Given the description of an element on the screen output the (x, y) to click on. 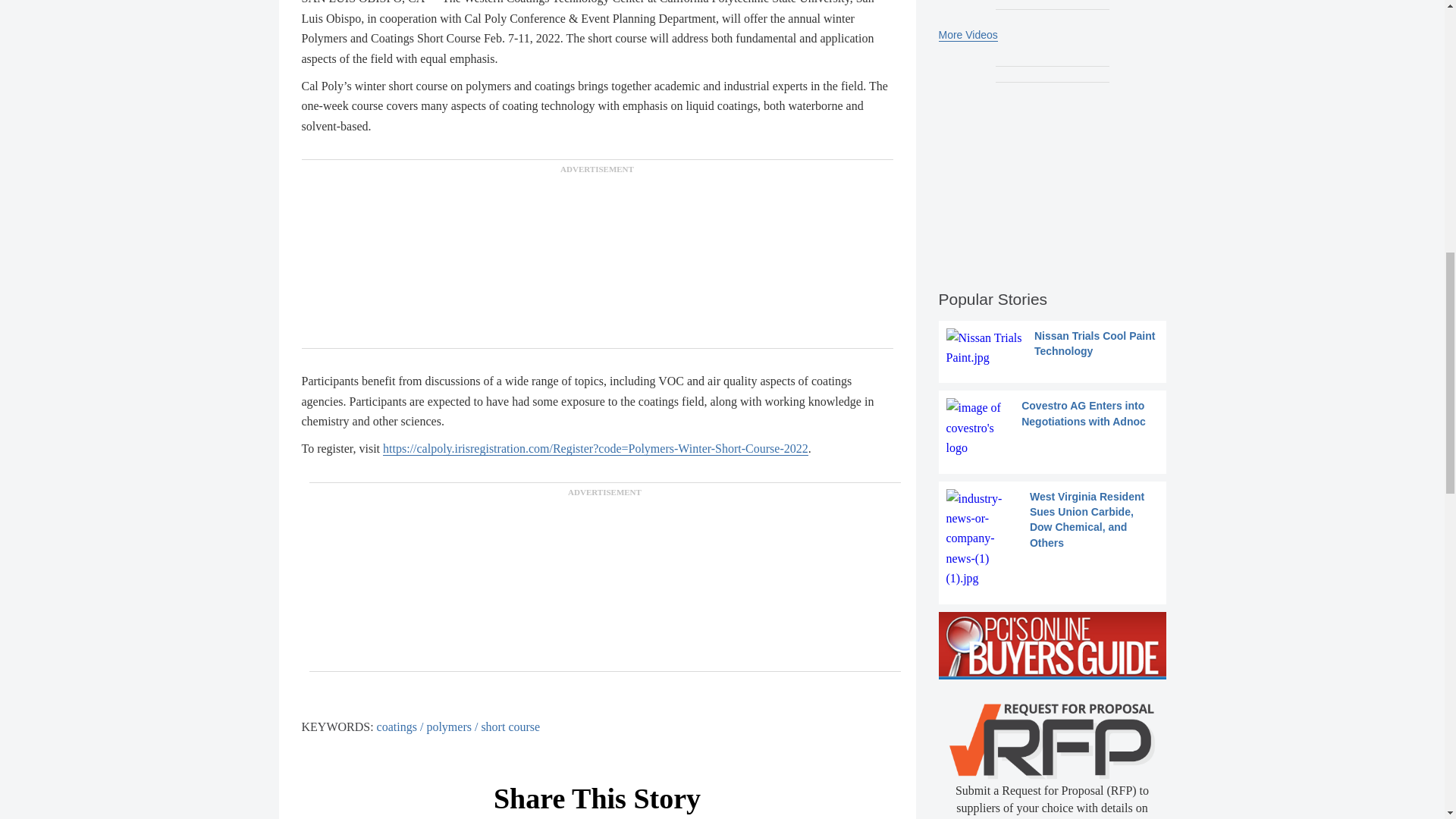
Covestro AG Enters into Negotiations with Adnoc (1052, 427)
Nissan Trials Cool Paint Technology (1052, 348)
